Given the description of an element on the screen output the (x, y) to click on. 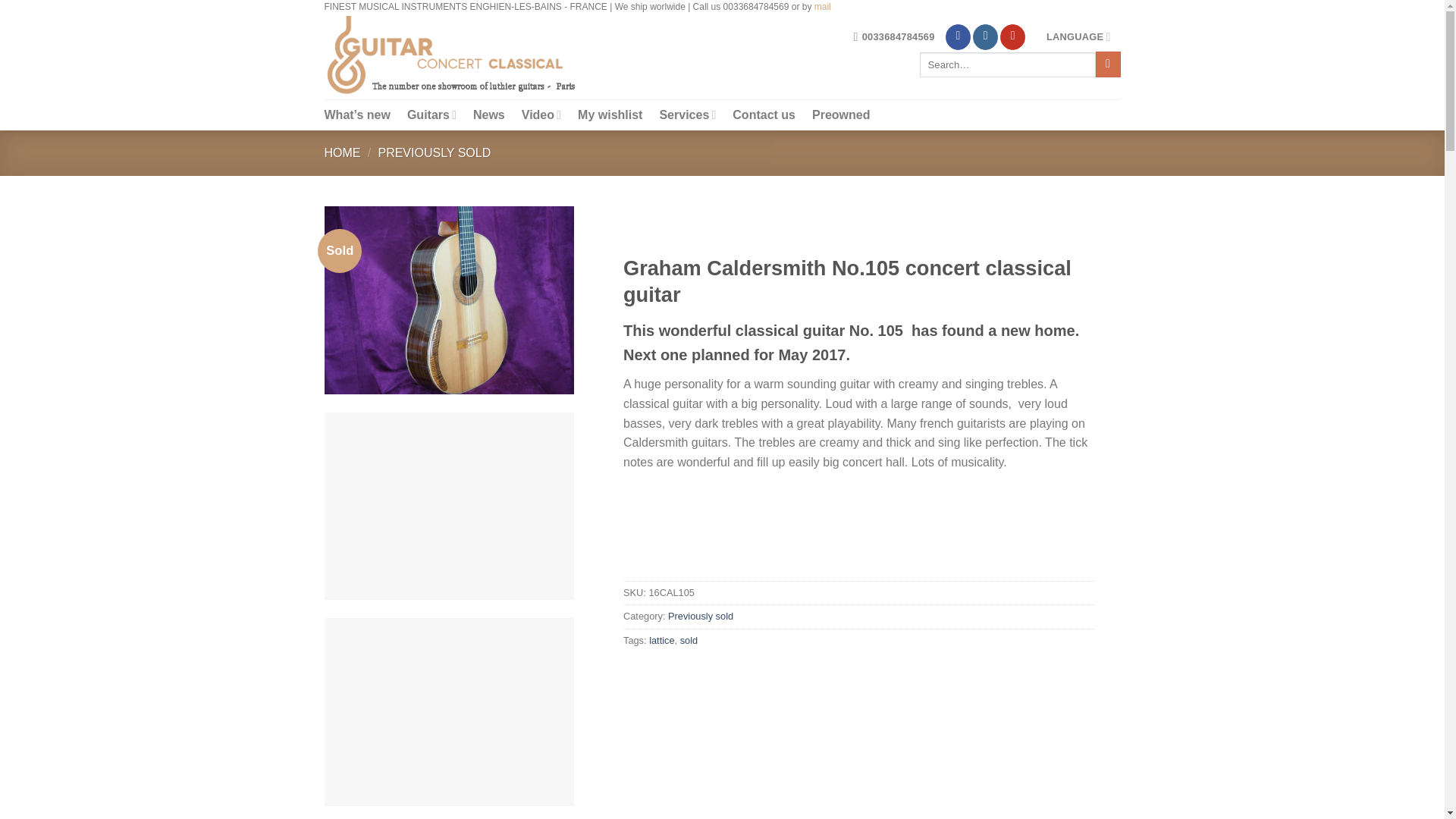
My wishlist (610, 114)
Follow on Facebook (957, 36)
Follow on YouTube (1012, 36)
Guitars (432, 114)
0033684784569 (893, 36)
mail (822, 7)
Search (1108, 63)
0033684784569 (893, 36)
Video (540, 114)
LANGUAGE (1078, 36)
Follow on Instagram (984, 36)
News (489, 114)
Services (687, 114)
